Given the description of an element on the screen output the (x, y) to click on. 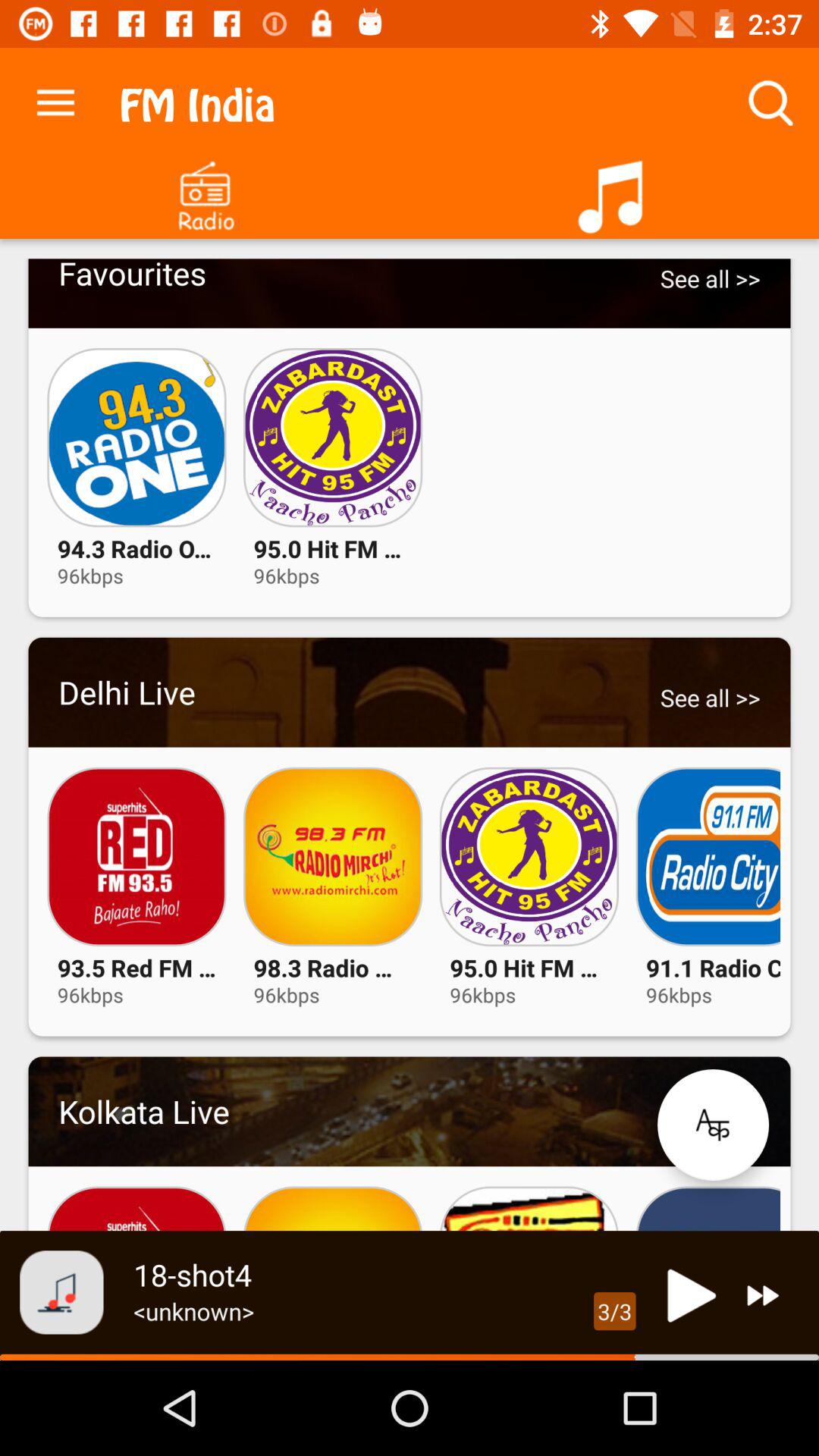
go to next song (763, 1295)
